Given the description of an element on the screen output the (x, y) to click on. 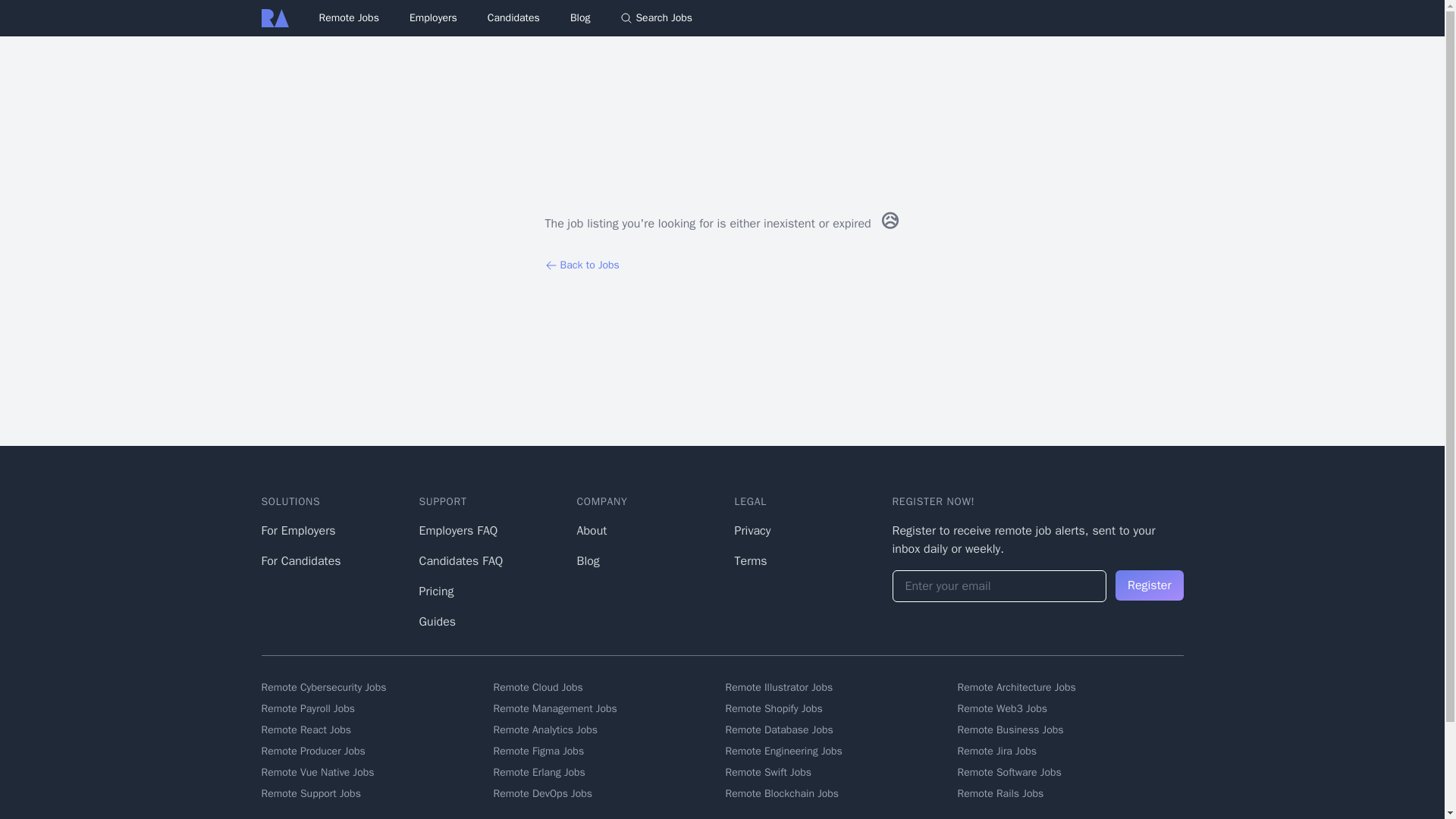
Employers (433, 17)
Candidates FAQ (460, 560)
Privacy (751, 530)
For Employers (297, 530)
Remote Jobs (348, 17)
Remote Database Jobs (837, 729)
Remote Business Jobs (1069, 729)
Remote Cloud Jobs (606, 687)
Remote Web3 Jobs (1069, 708)
Back to Jobs (721, 264)
